Given the description of an element on the screen output the (x, y) to click on. 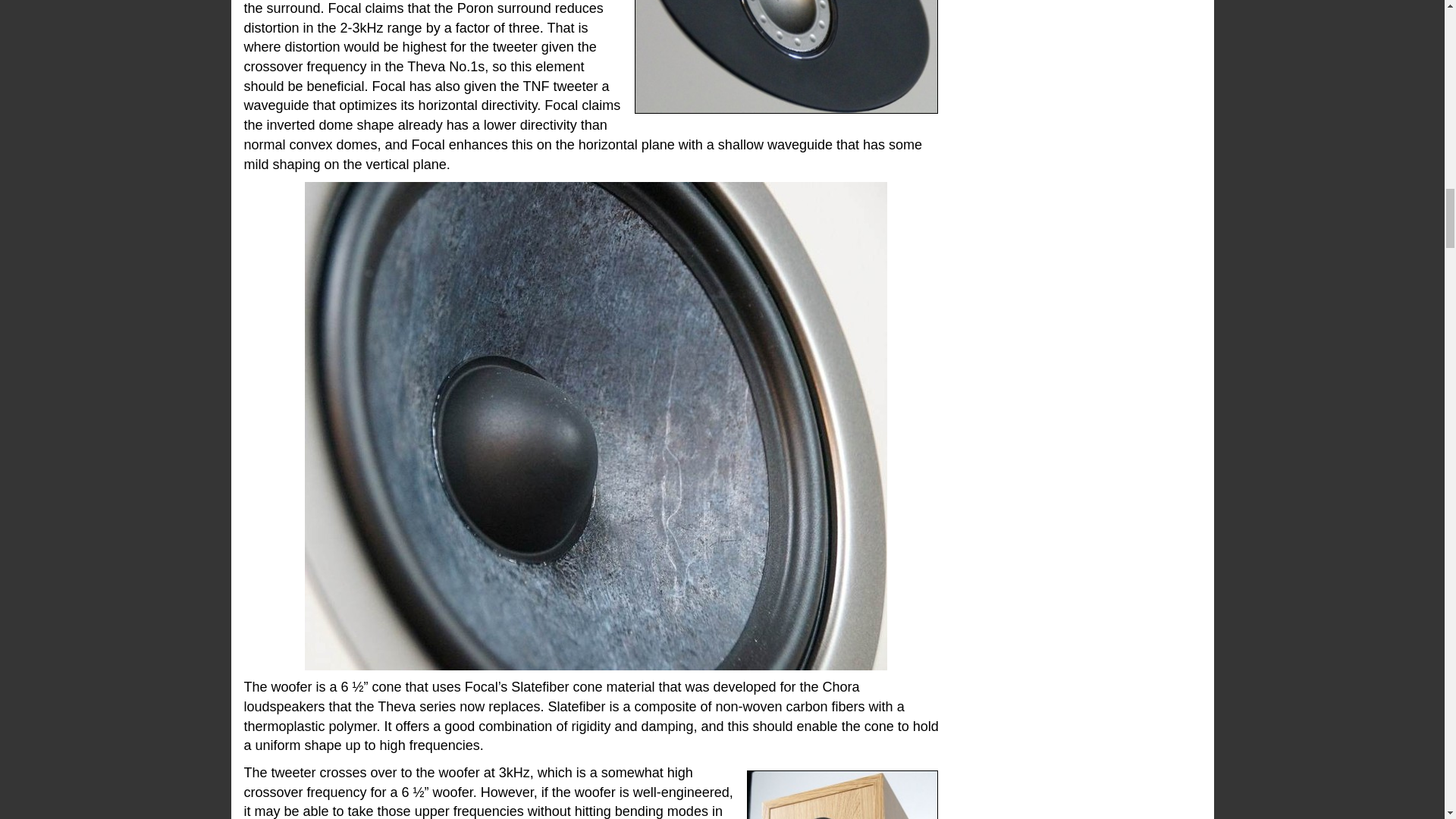
Theva cone (595, 425)
